Given the description of an element on the screen output the (x, y) to click on. 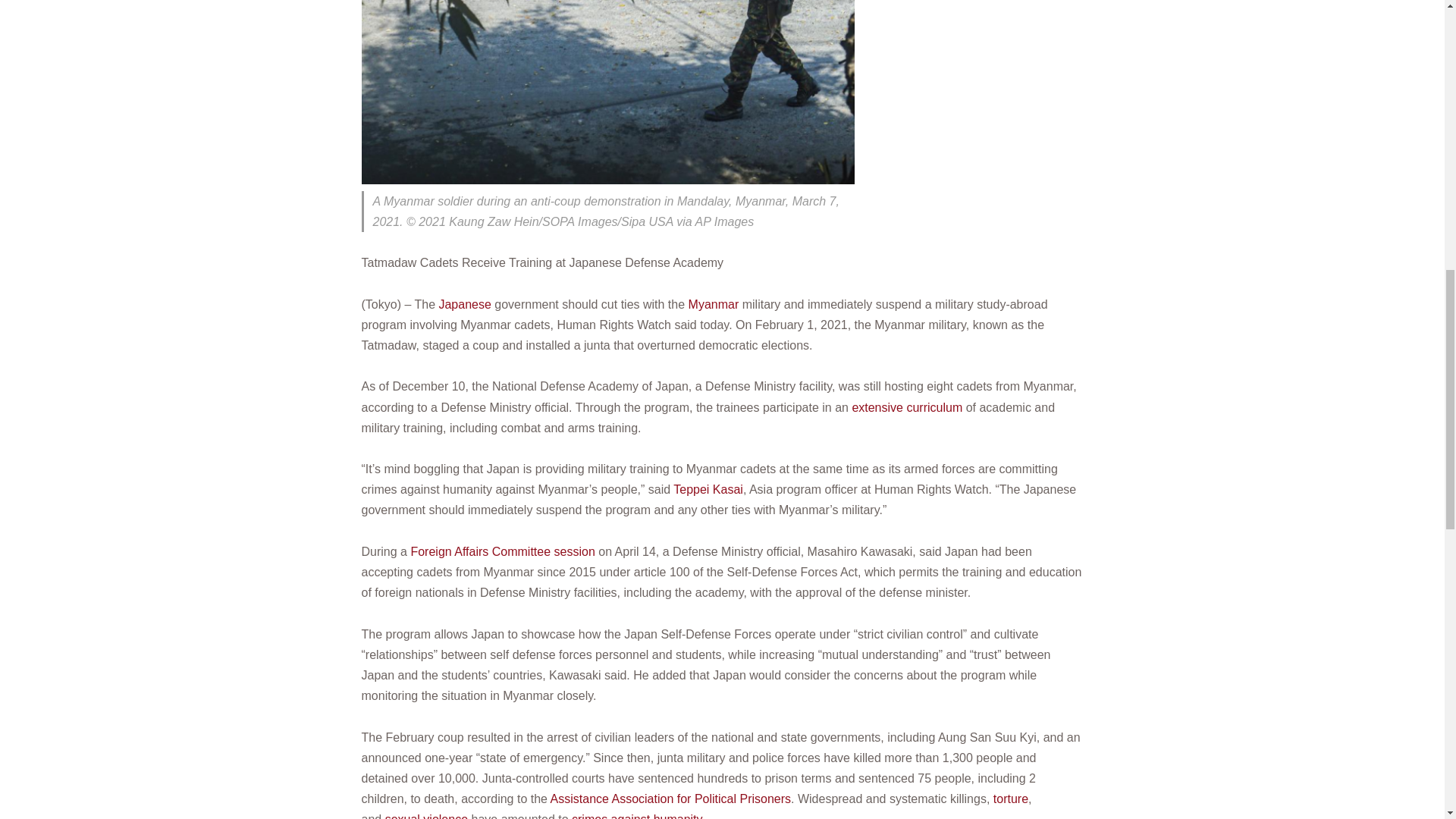
Assistance Association for Political Prisoners (670, 798)
extensive curriculum (906, 407)
Japanese (464, 304)
Teppei Kasai (707, 489)
Myanmar (713, 304)
Foreign Affairs Committee session (502, 551)
torture (1009, 798)
